Given the description of an element on the screen output the (x, y) to click on. 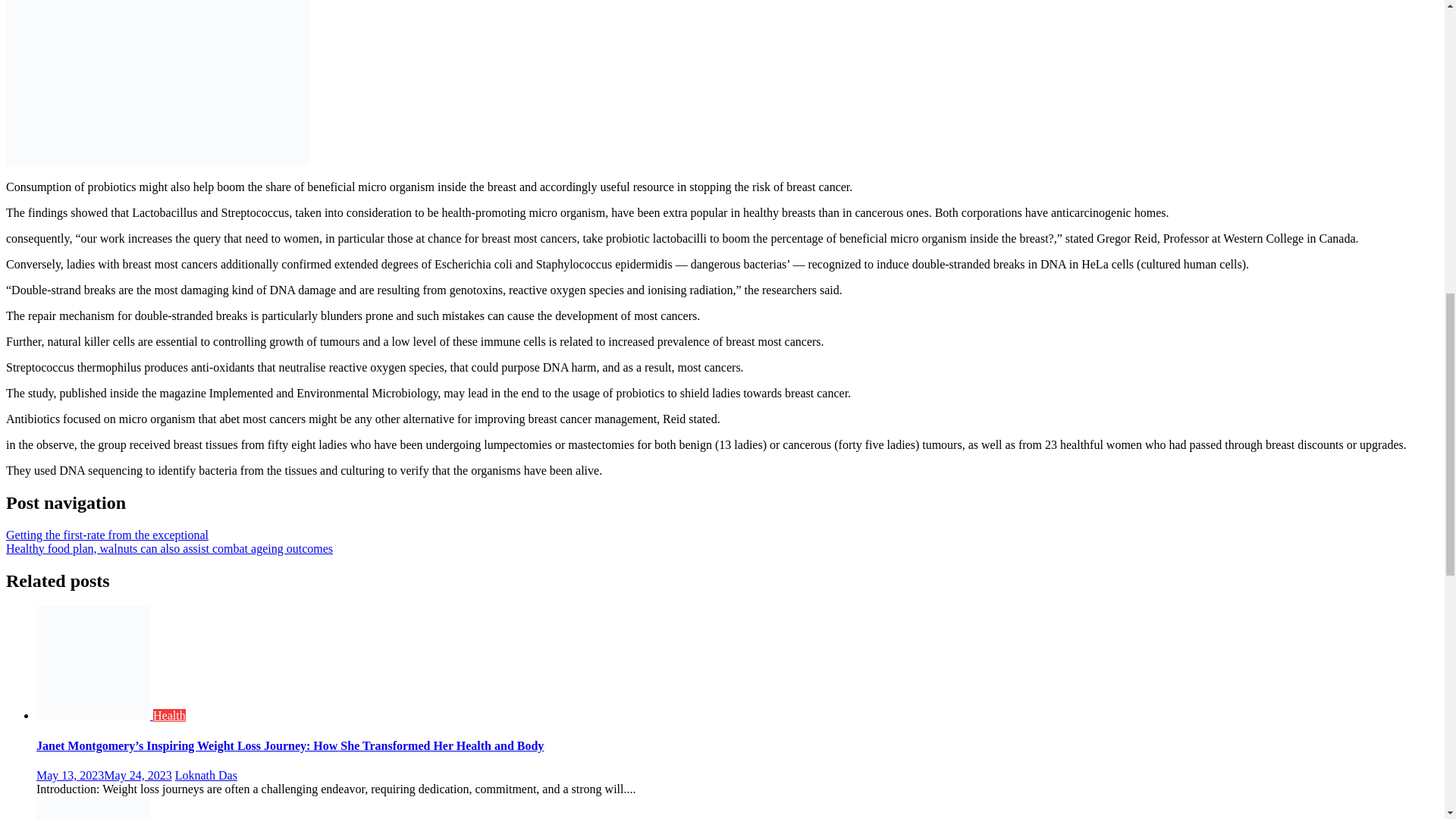
Getting the first-rate from the exceptional (106, 534)
Health (169, 715)
May 13, 2023May 24, 2023 (103, 775)
